Given the description of an element on the screen output the (x, y) to click on. 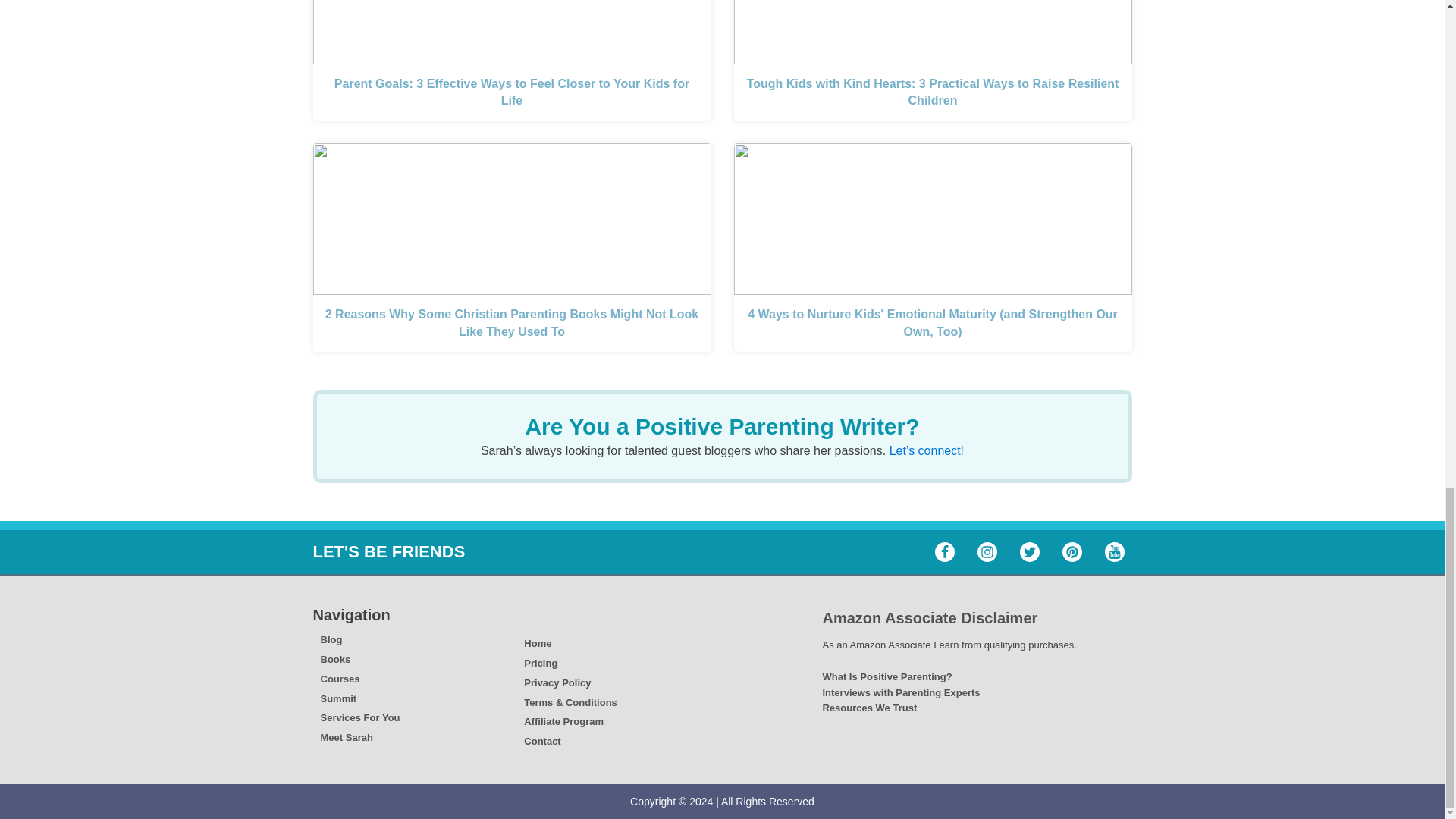
Courses (359, 679)
Meet Sarah (359, 738)
Summit (359, 699)
Services For You (359, 718)
Pricing (570, 663)
Home (570, 643)
Books (359, 659)
Privacy Policy (570, 683)
Blog (359, 640)
